Given the description of an element on the screen output the (x, y) to click on. 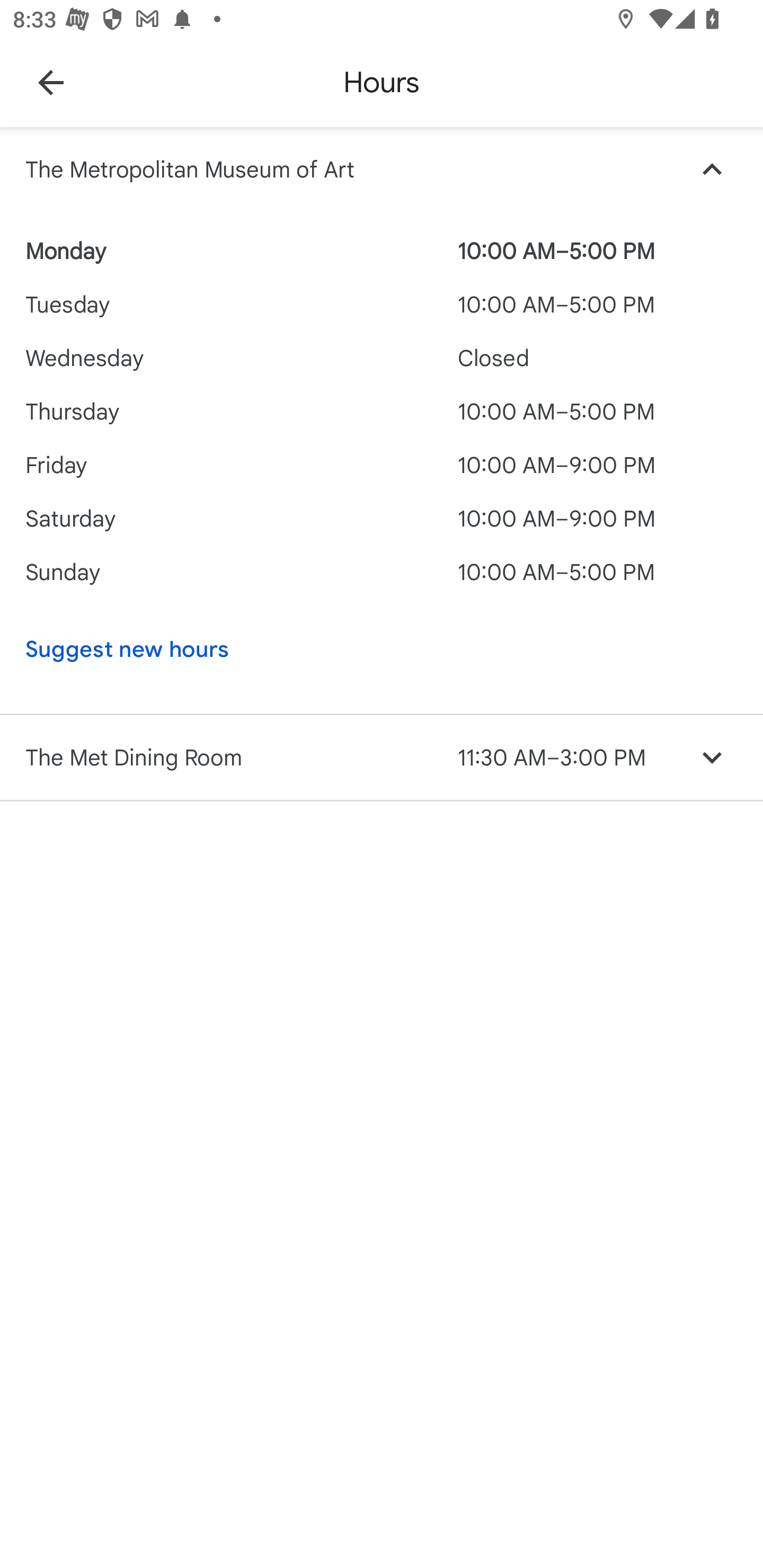
Navigate up (50, 81)
Suggest new hours (349, 649)
The Met Dining Room 11:30 AM–3:00 PM (381, 758)
